Given the description of an element on the screen output the (x, y) to click on. 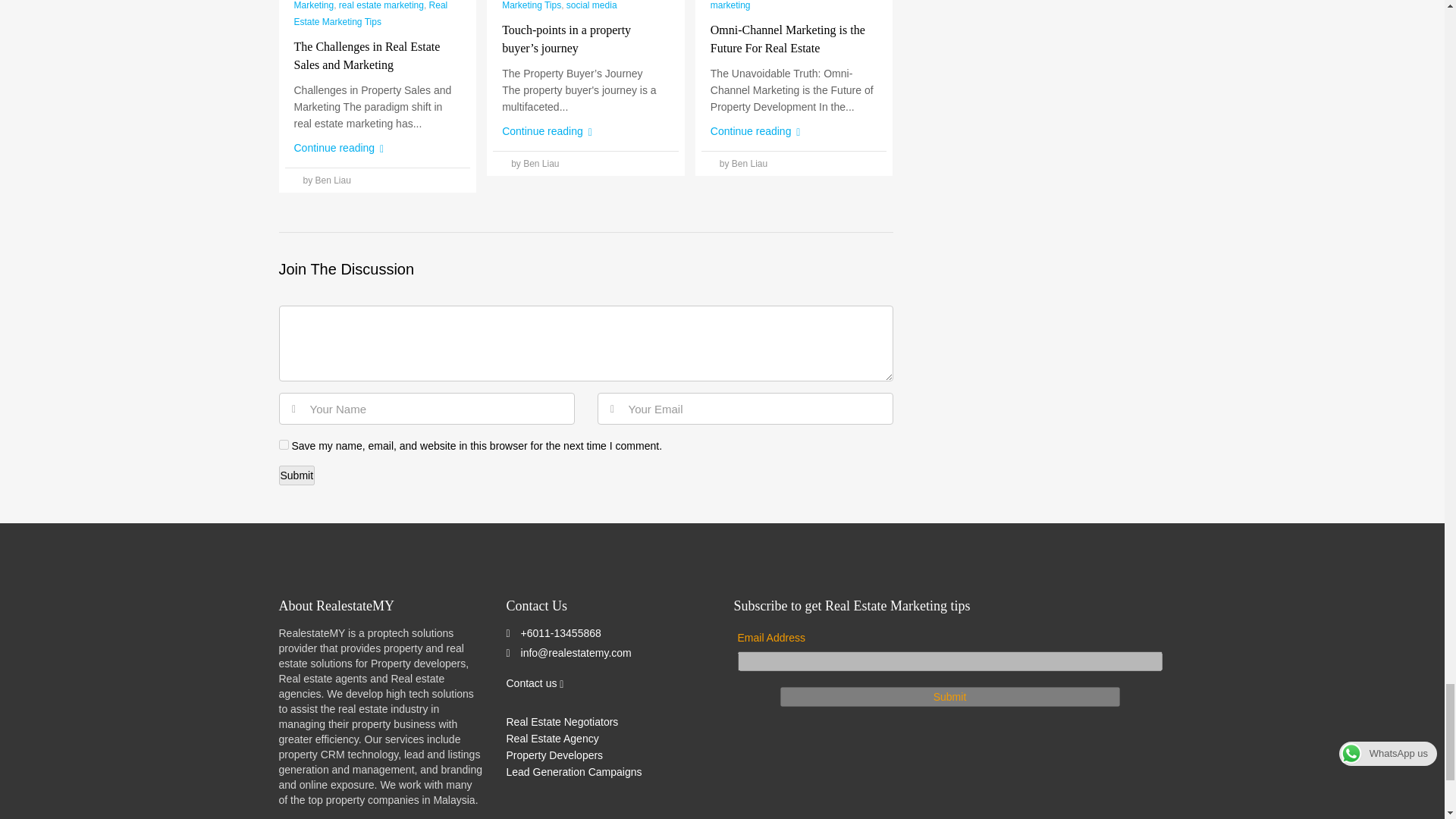
yes (283, 444)
Submit (948, 696)
Submit (297, 475)
